Given the description of an element on the screen output the (x, y) to click on. 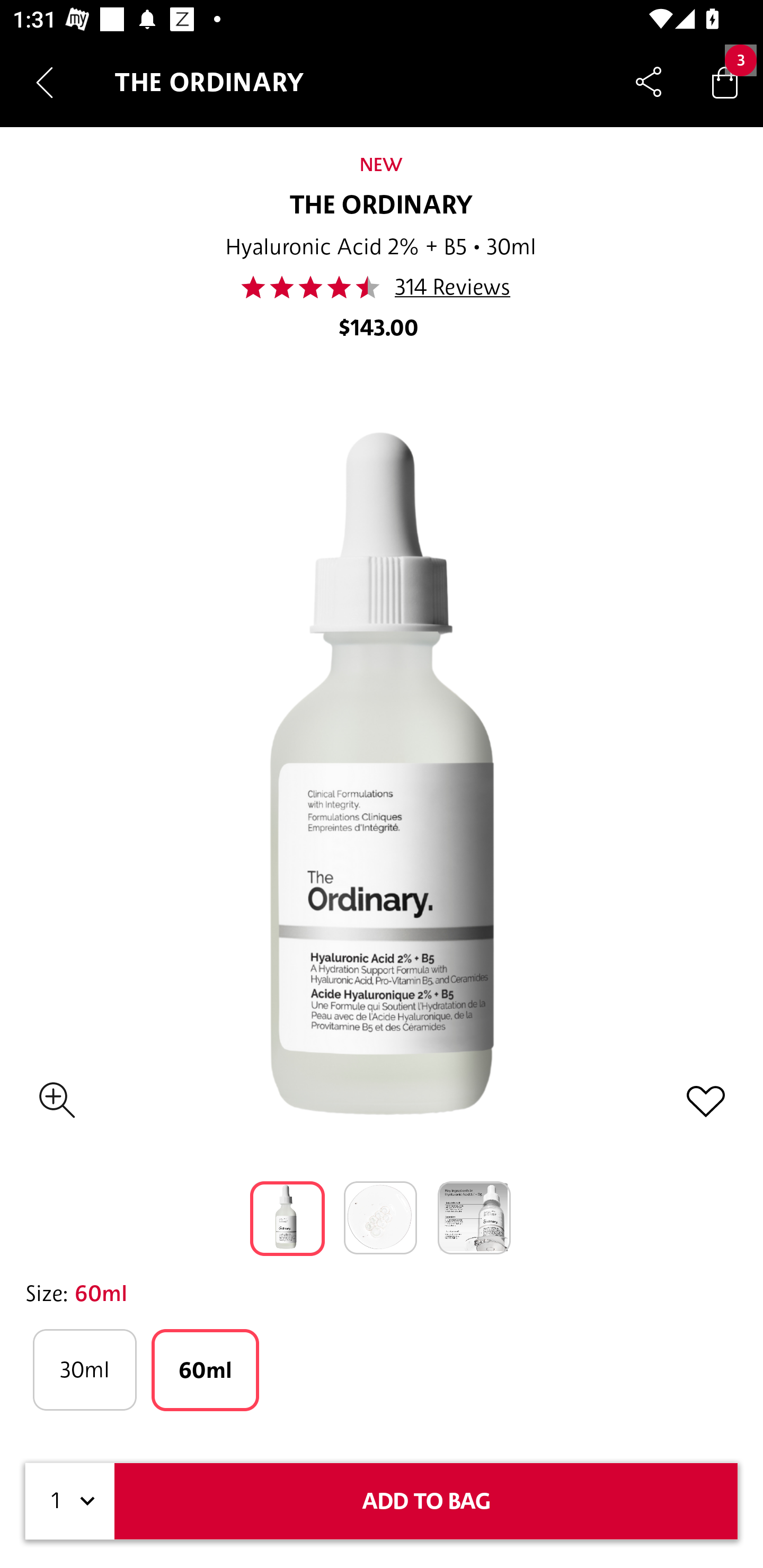
Navigate up (44, 82)
Share (648, 81)
Bag (724, 81)
THE ORDINARY (381, 205)
45.0 314 Reviews (380, 286)
30ml (84, 1370)
60ml (205, 1370)
1 (69, 1500)
ADD TO BAG (425, 1500)
